Given the description of an element on the screen output the (x, y) to click on. 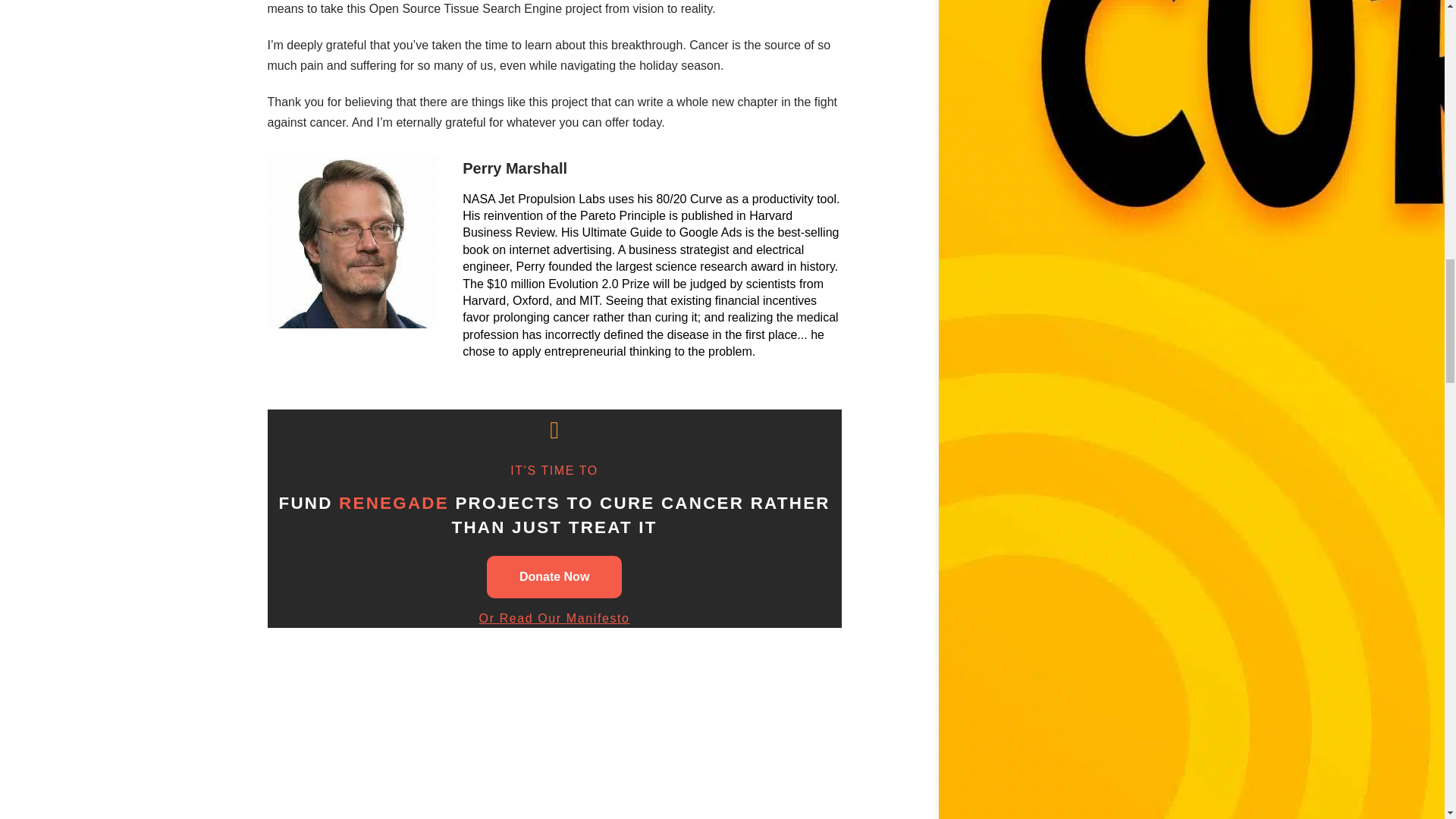
Or Read Our Manifesto (554, 617)
Donate Now (553, 577)
